Given the description of an element on the screen output the (x, y) to click on. 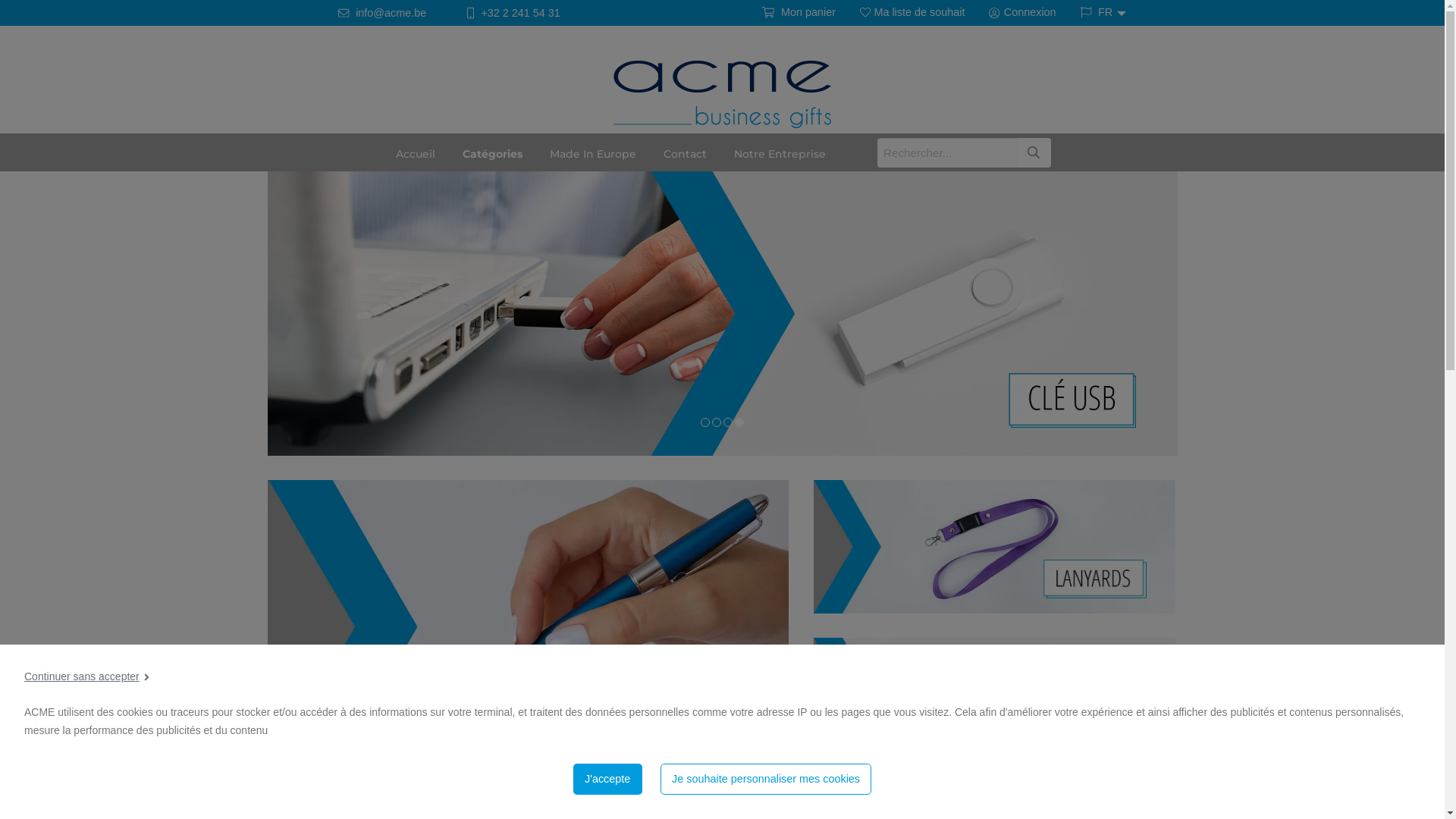
FR Element type: text (1099, 11)
Accueil Element type: text (415, 152)
Notre Entreprise Element type: text (779, 152)
+32 2 241 54 31 Element type: text (513, 13)
Mon panier Element type: text (798, 12)
Je souhaite personnaliser mes cookies Element type: text (766, 778)
Ma liste de souhait Element type: text (911, 12)
info@acme.be Element type: text (382, 13)
Continuer sans accepter Element type: text (86, 676)
Diapositive suivante Element type: text (1428, 301)
Made In Europe Element type: text (592, 152)
Contact Element type: text (684, 152)
J'accepte Element type: text (607, 778)
Connexion Element type: text (1021, 12)
